Given the description of an element on the screen output the (x, y) to click on. 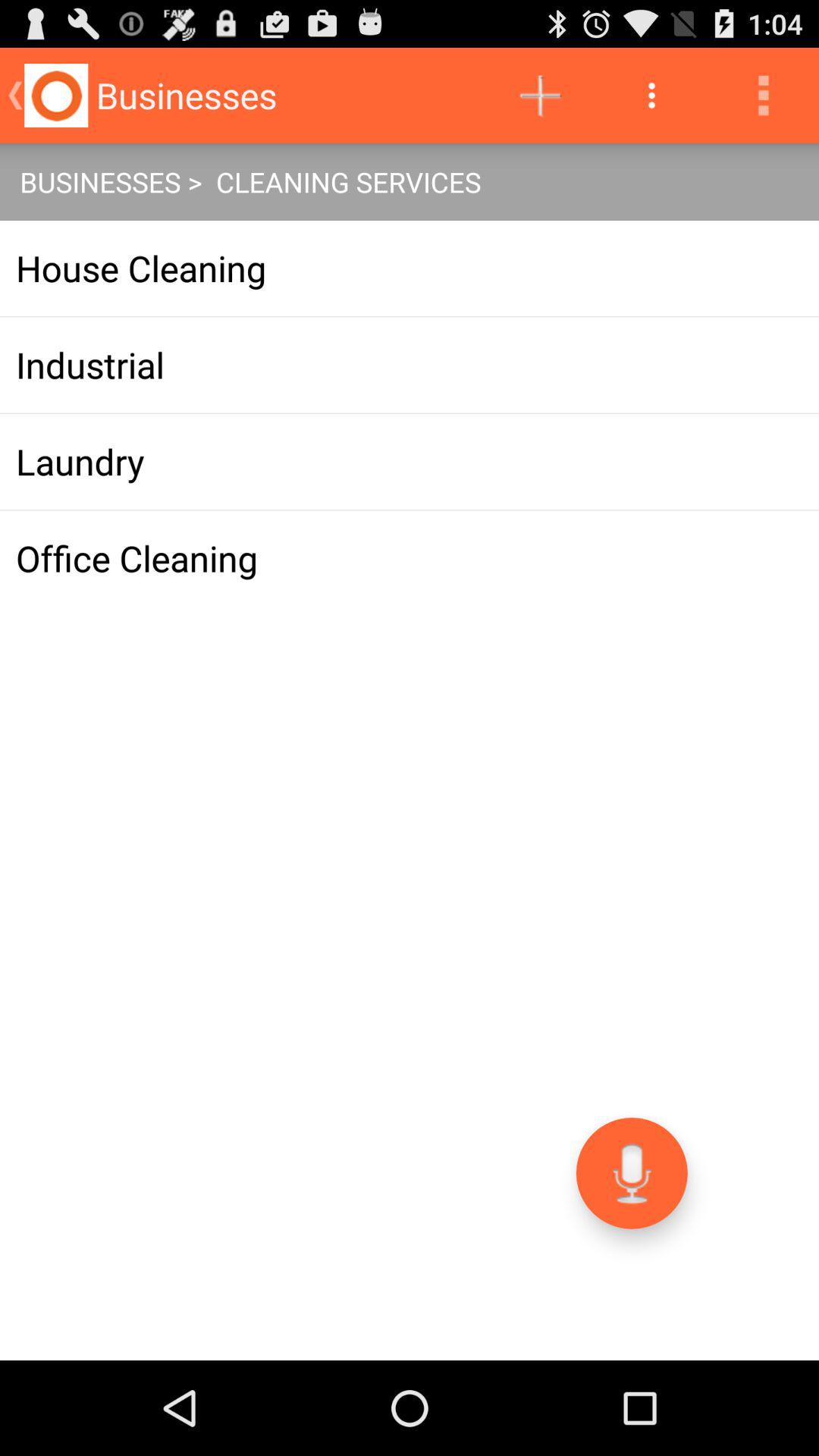
turn on the icon below the industrial icon (409, 461)
